Given the description of an element on the screen output the (x, y) to click on. 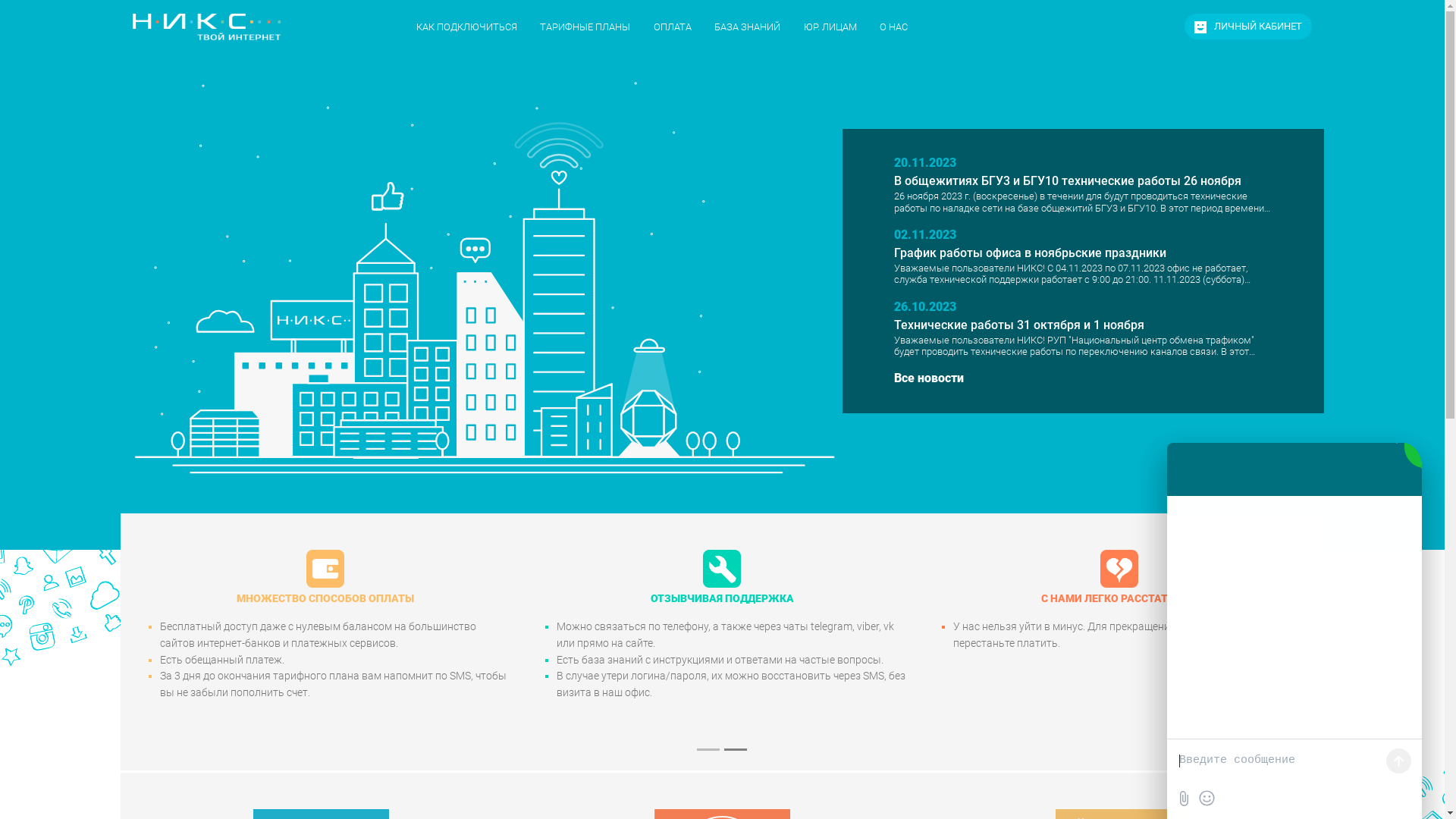
20.11.2023 Element type: text (925, 162)
26.10.2023 Element type: text (925, 306)
02.11.2023 Element type: text (925, 234)
